Given the description of an element on the screen output the (x, y) to click on. 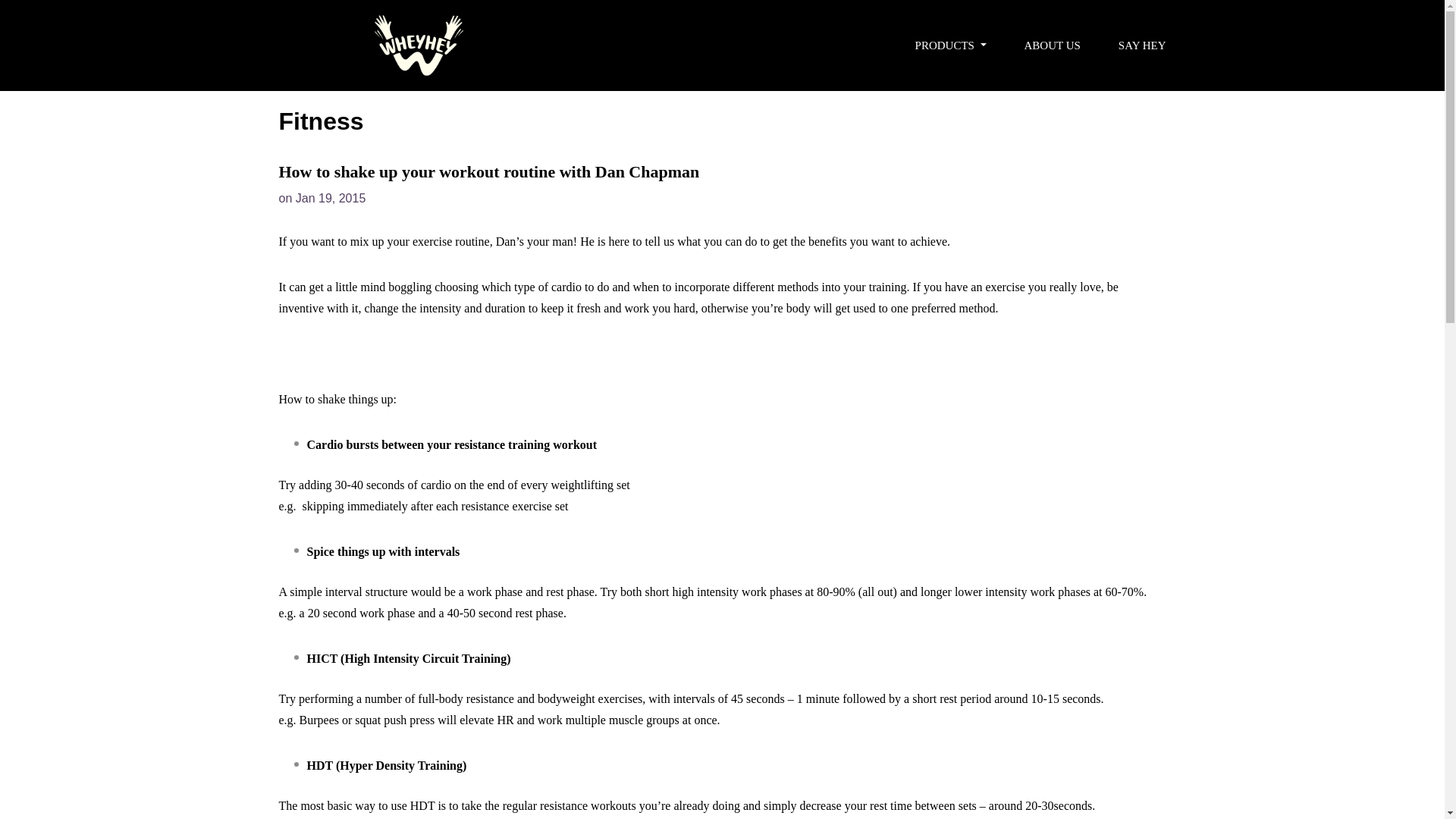
SAY HEY (1142, 45)
ABOUT US (1052, 45)
PRODUCTS (951, 45)
